Given the description of an element on the screen output the (x, y) to click on. 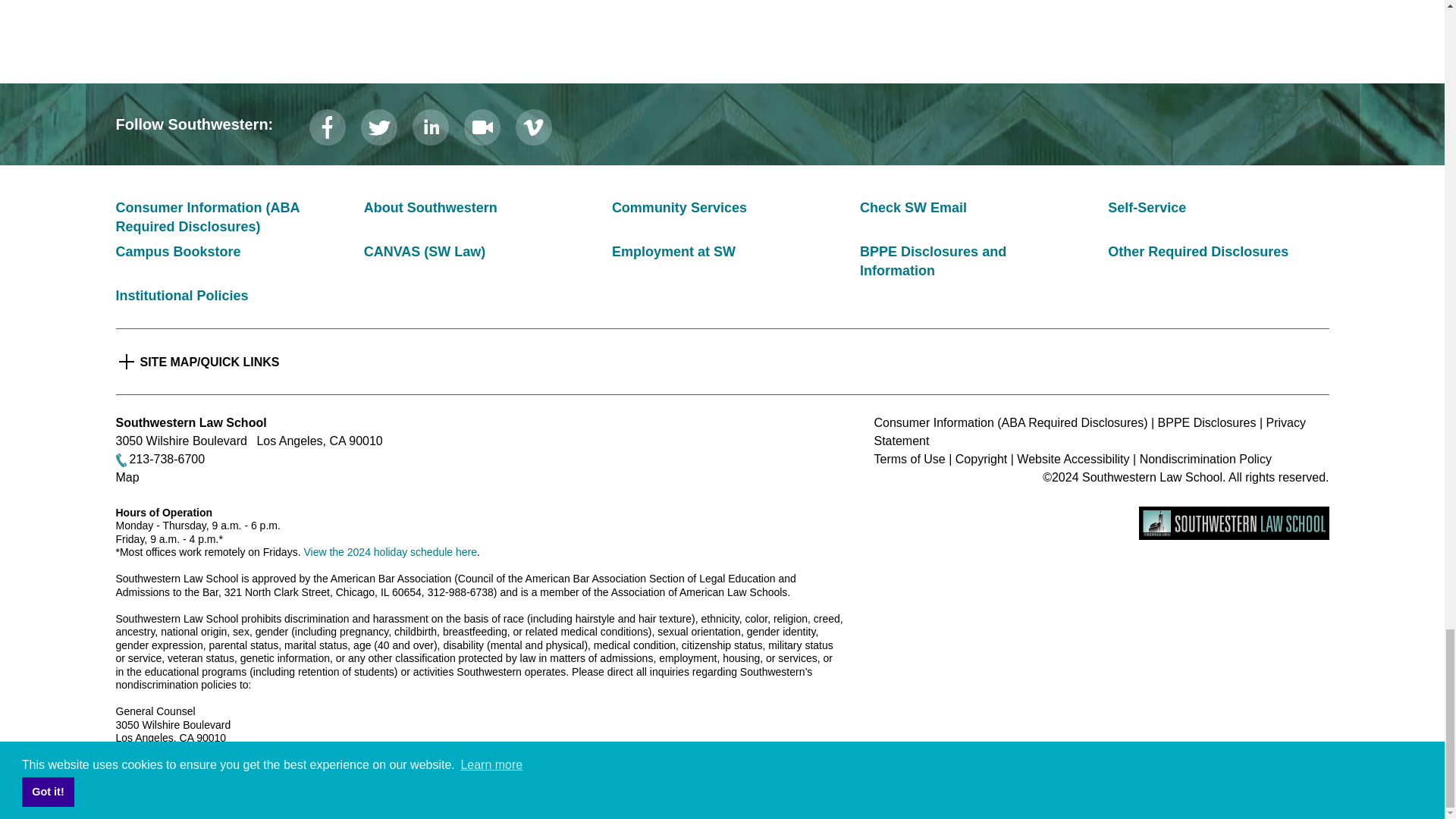
On-Campus Bookstore is in Westmoreland basement (177, 251)
